Given the description of an element on the screen output the (x, y) to click on. 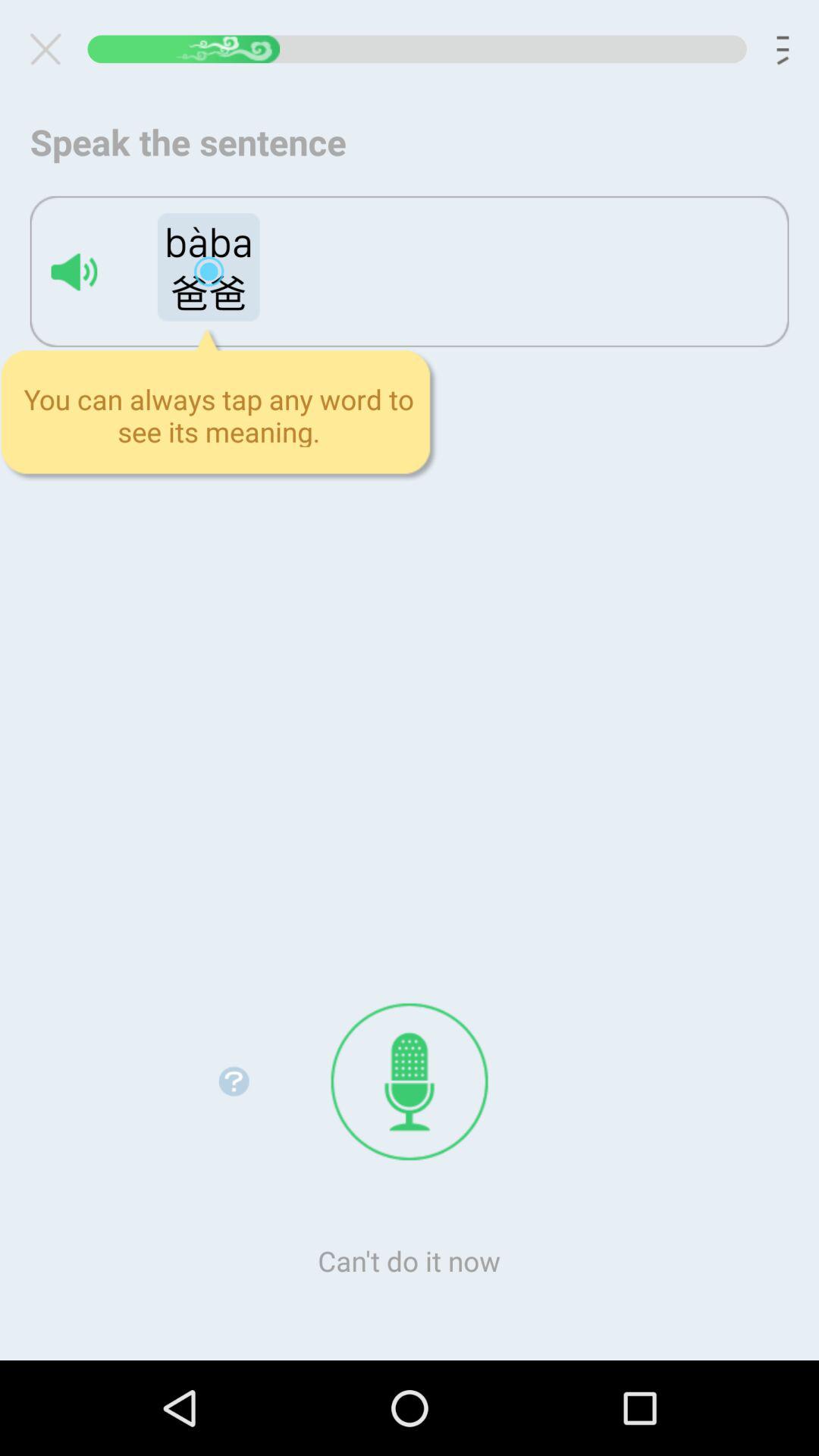
play word (74, 271)
